Given the description of an element on the screen output the (x, y) to click on. 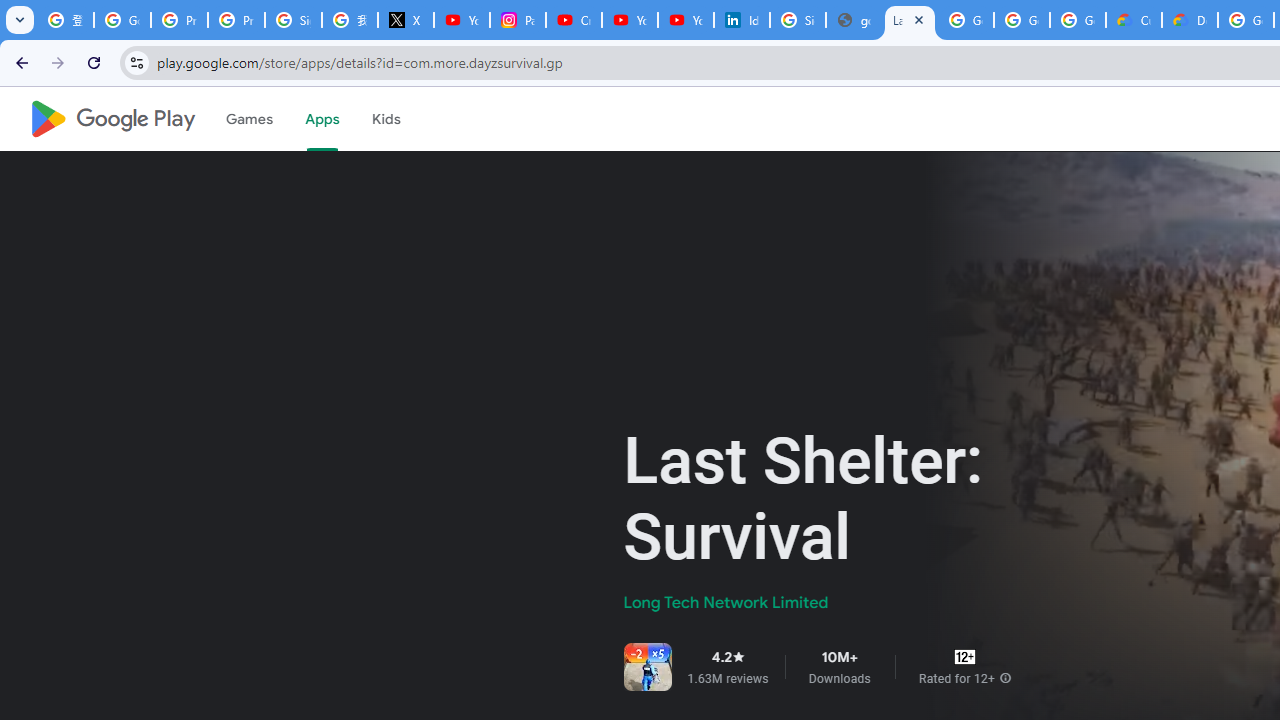
Sign in - Google Accounts (293, 20)
google_privacy_policy_en.pdf (853, 20)
Content rating (964, 656)
Last Shelter: Survival - Apps on Google Play (909, 20)
Google Play logo (111, 119)
Long Tech Network Limited (726, 602)
Customer Care | Google Cloud (1133, 20)
Identity verification via Persona | LinkedIn Help (742, 20)
Privacy Help Center - Policies Help (179, 20)
